Given the description of an element on the screen output the (x, y) to click on. 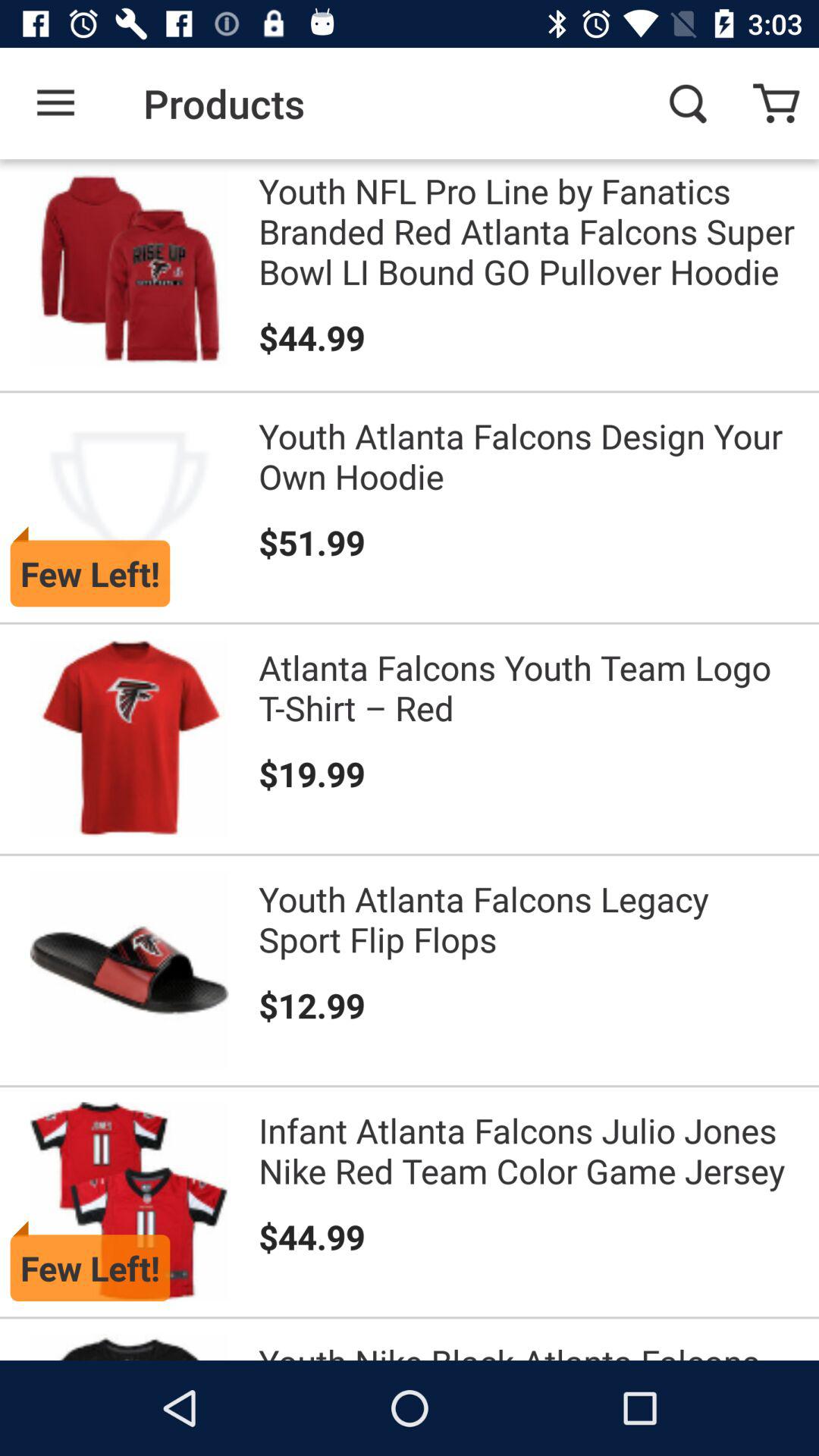
turn off the item next to products (687, 103)
